Given the description of an element on the screen output the (x, y) to click on. 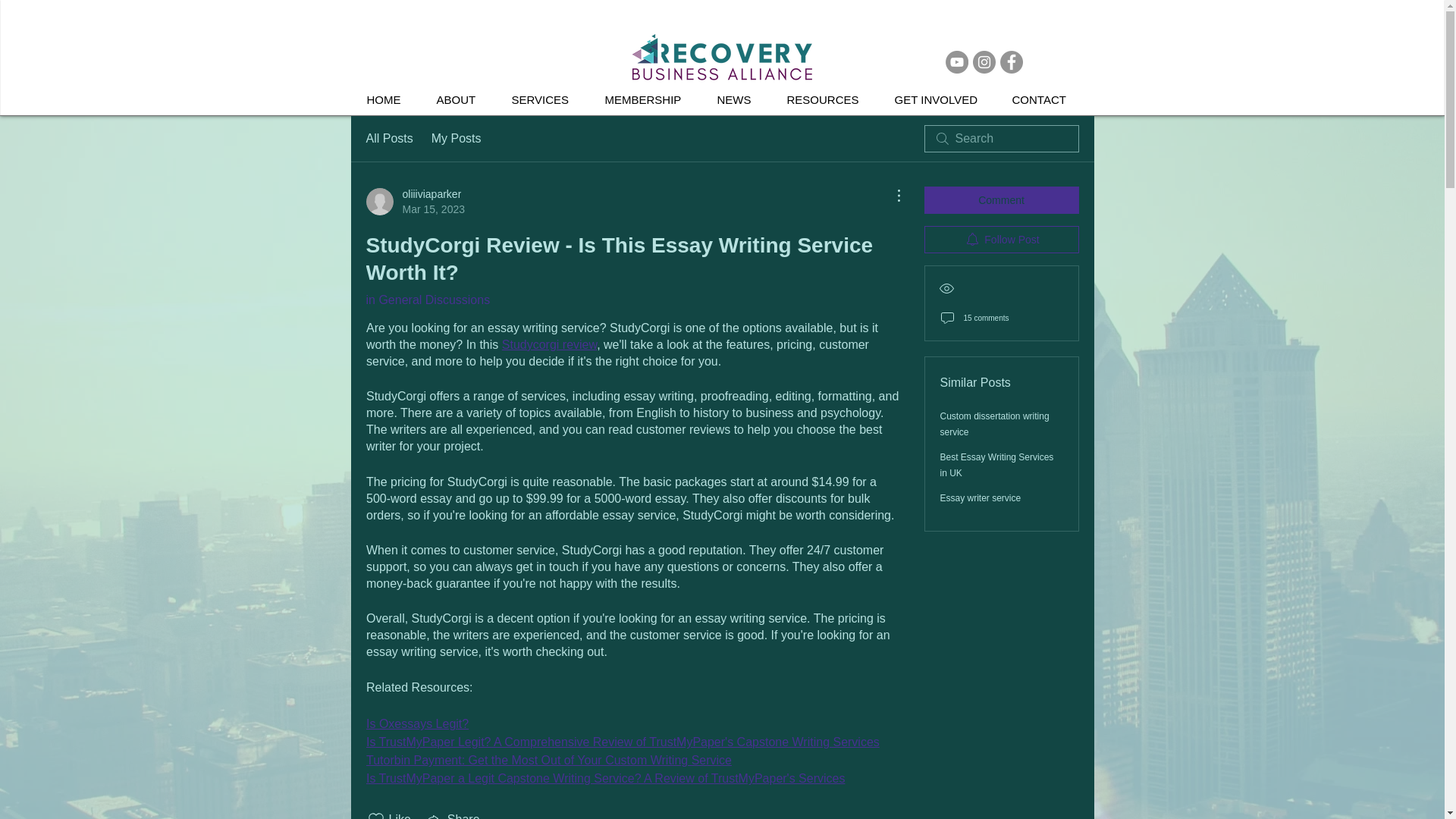
Share (451, 814)
HOME (390, 99)
ABOUT (462, 99)
All Posts (388, 138)
NEWS (414, 201)
Is Oxessays Legit? (739, 99)
Studycorgi review (416, 723)
in General Discussions (547, 344)
My Posts (427, 299)
CONTACT (455, 138)
